Given the description of an element on the screen output the (x, y) to click on. 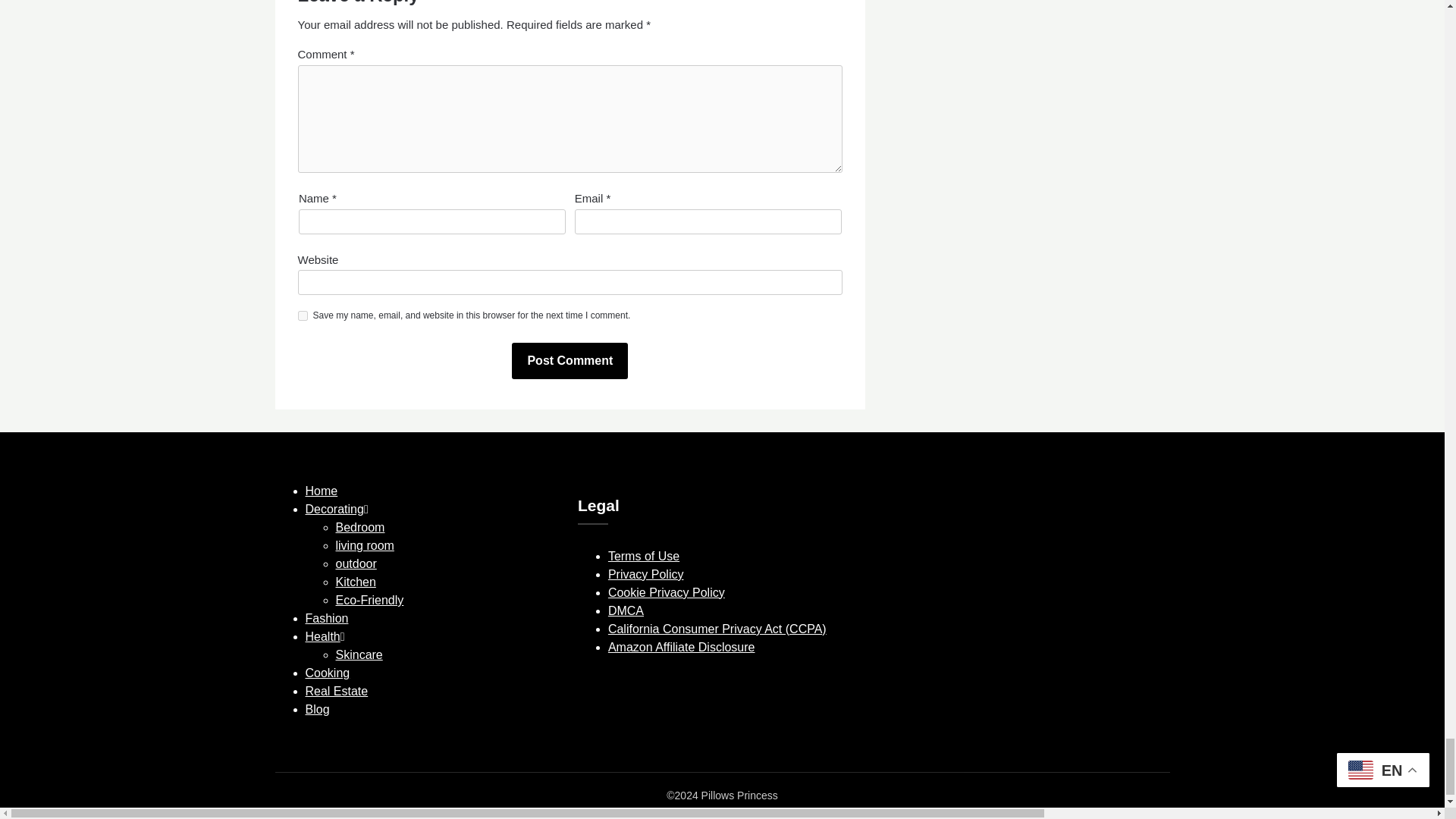
Post Comment (569, 361)
yes (302, 316)
